Given the description of an element on the screen output the (x, y) to click on. 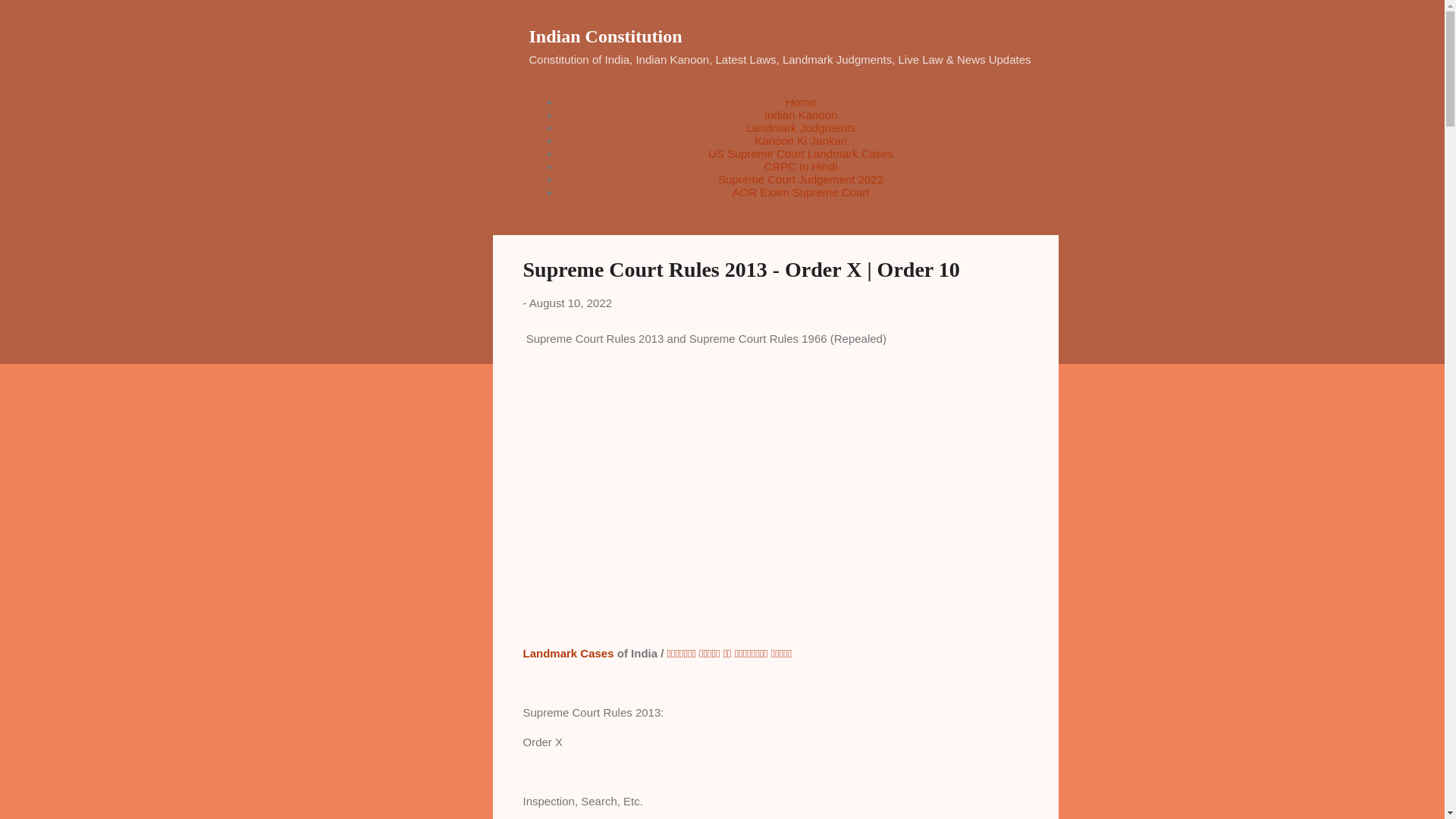
CRPC in Hindi (801, 165)
US Supreme Court Landmark Cases (800, 153)
permanent link (570, 302)
Search (29, 18)
August 10, 2022 (570, 302)
AOR Exam Supreme Court (800, 192)
Landmark Cases (568, 652)
Kanoon Ki Jankari (800, 140)
YouTube video player (734, 507)
Home (800, 101)
Indian Kanoon (801, 114)
Supreme Court Judgement 2022 (800, 178)
Landmark Judgments (800, 127)
Indian Constitution (605, 35)
